Given the description of an element on the screen output the (x, y) to click on. 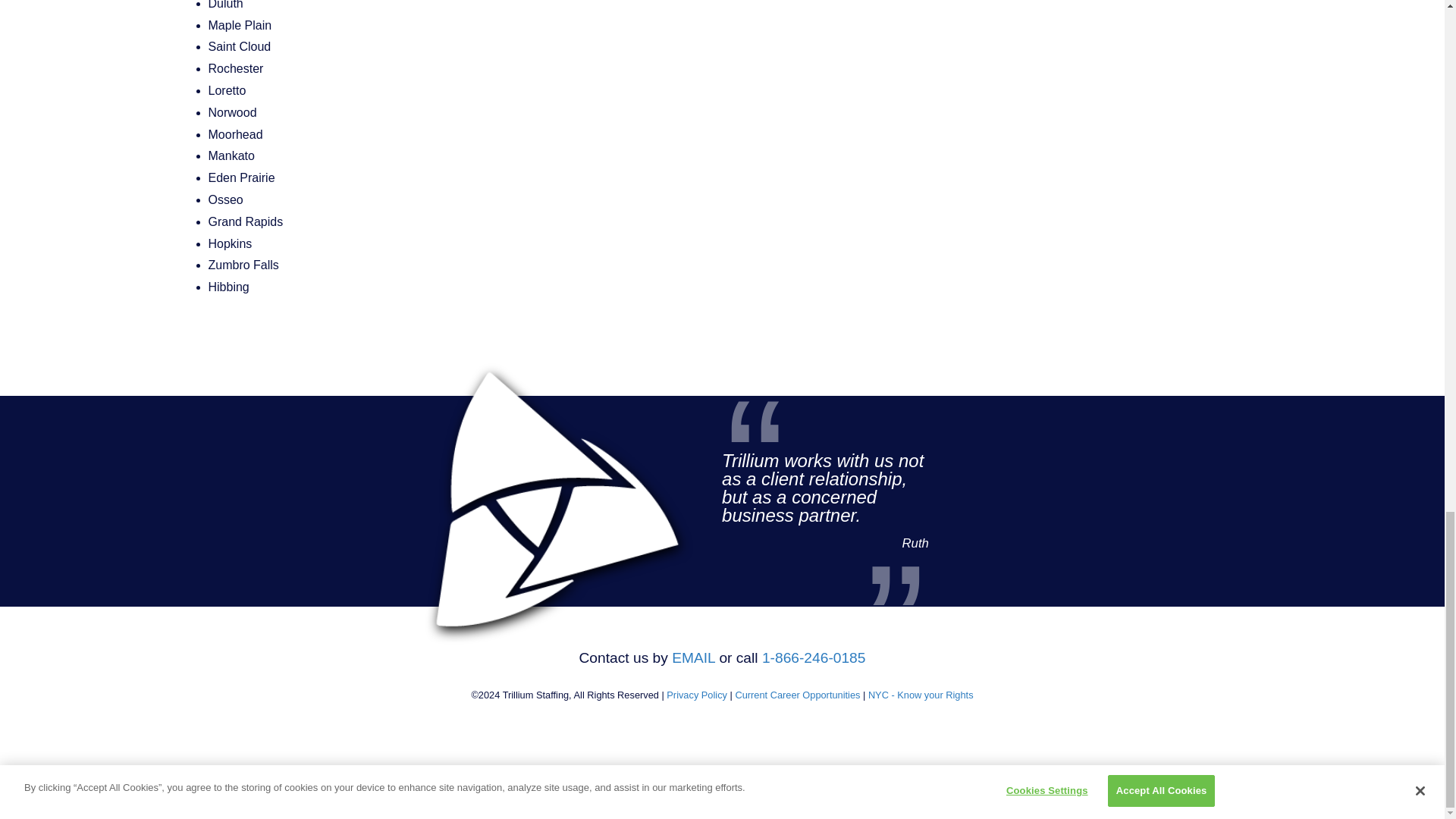
Logo (526, 466)
